Given the description of an element on the screen output the (x, y) to click on. 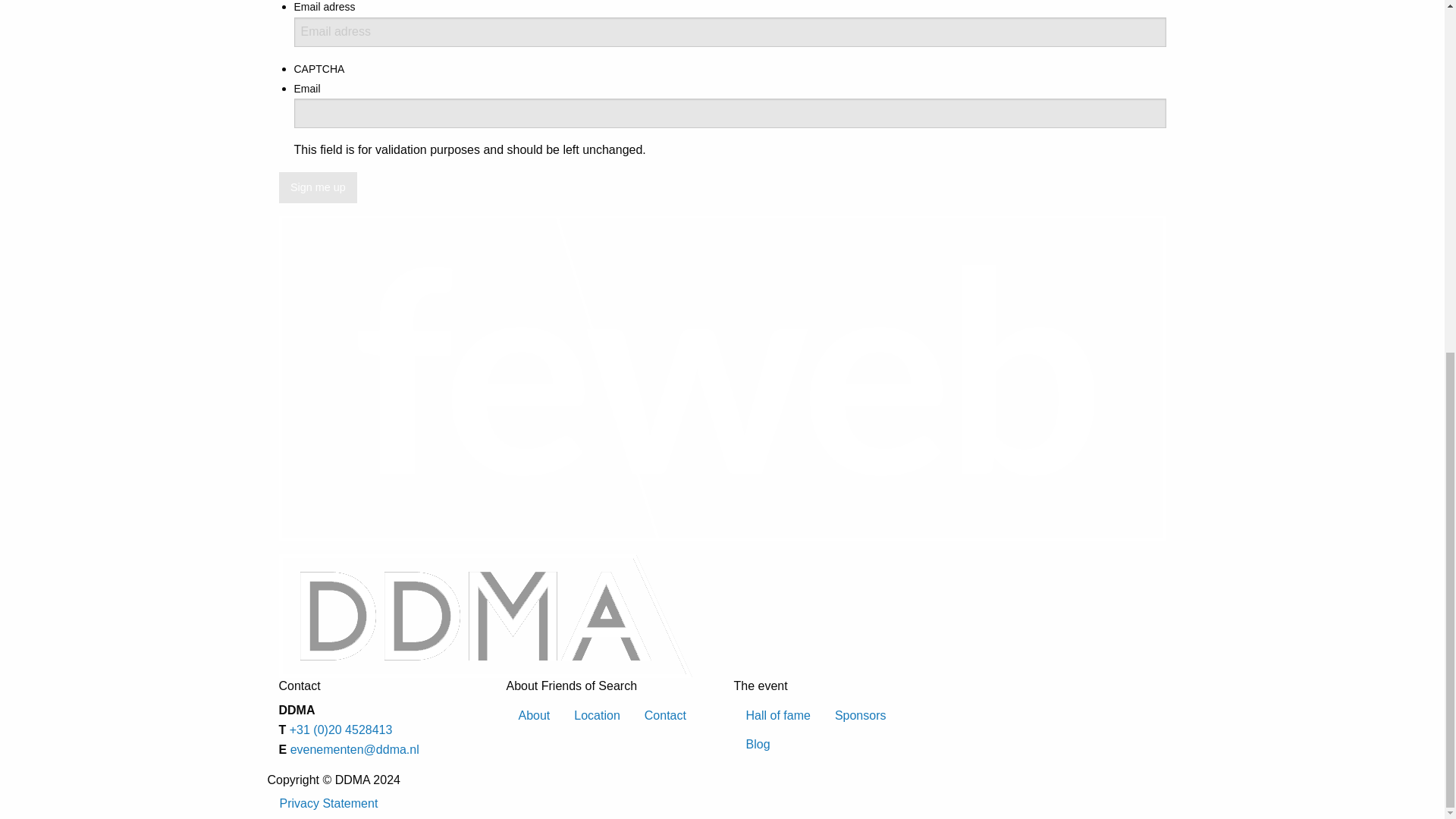
About (534, 715)
Hall of fame (777, 715)
Privacy Statement (328, 803)
Blog (758, 744)
Location (596, 715)
Contact (664, 715)
Sign me up (318, 187)
Sponsors (860, 715)
Sign me up (318, 187)
